Given the description of an element on the screen output the (x, y) to click on. 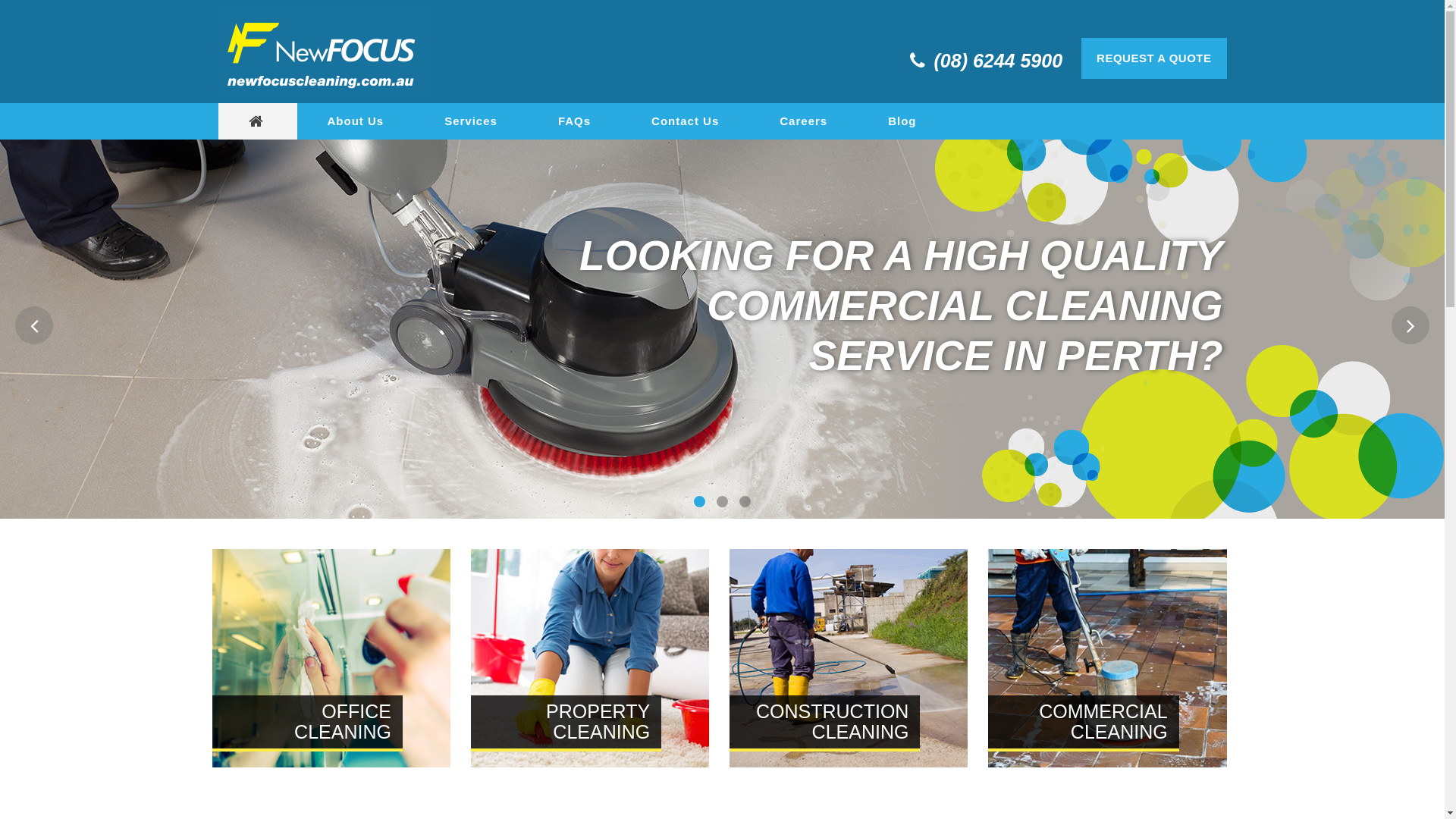
Services Element type: text (470, 121)
About Us Element type: text (355, 121)
FAQs Element type: text (574, 121)
Contact Us Element type: text (685, 121)
Blog Element type: text (901, 121)
Home Element type: text (257, 121)
Careers Element type: text (803, 121)
(08) 6244 5900 Element type: text (998, 60)
